Given the description of an element on the screen output the (x, y) to click on. 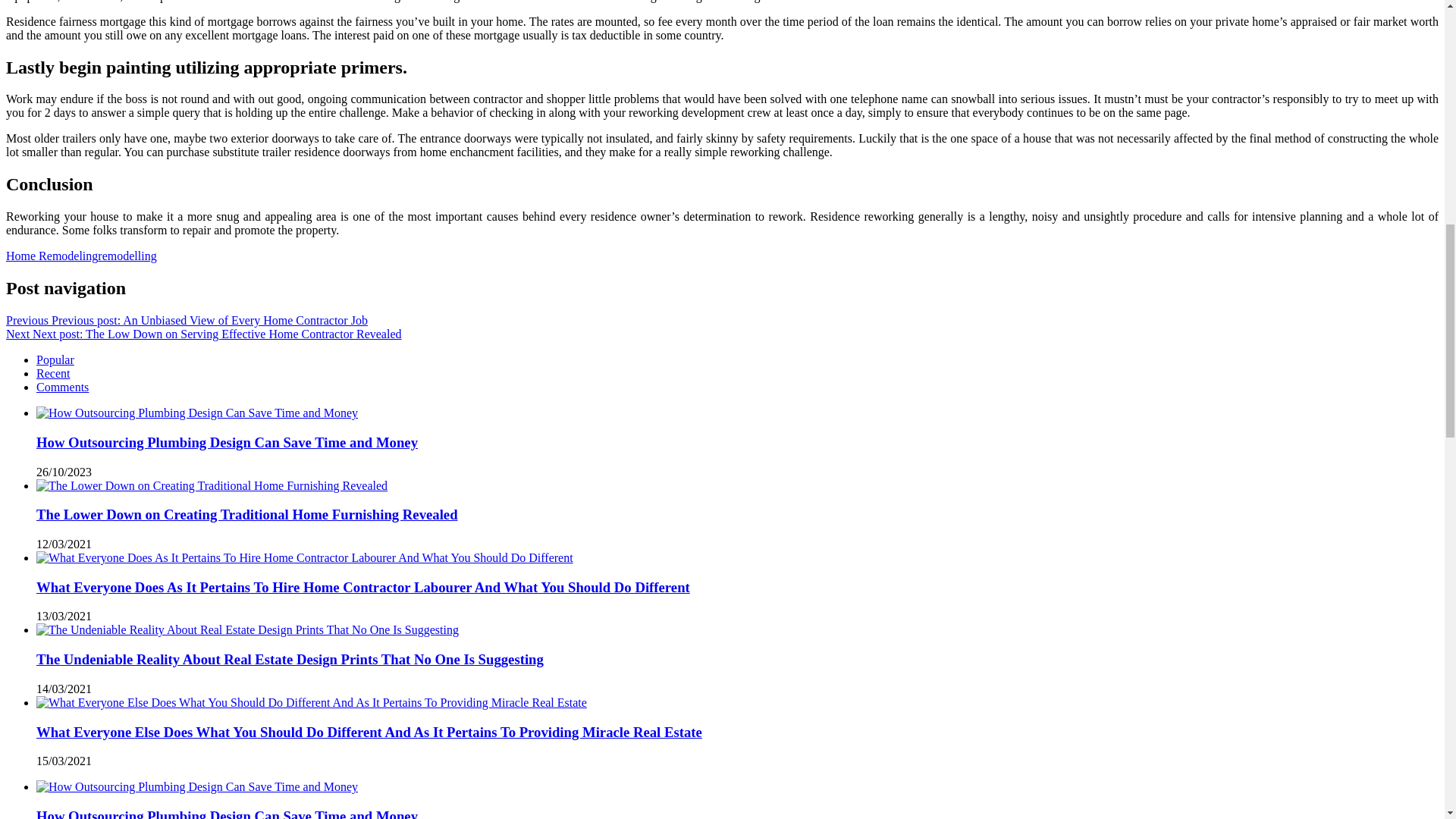
remodelling (126, 255)
Recent (52, 373)
Home Remodeling (51, 255)
Popular (55, 359)
